Given the description of an element on the screen output the (x, y) to click on. 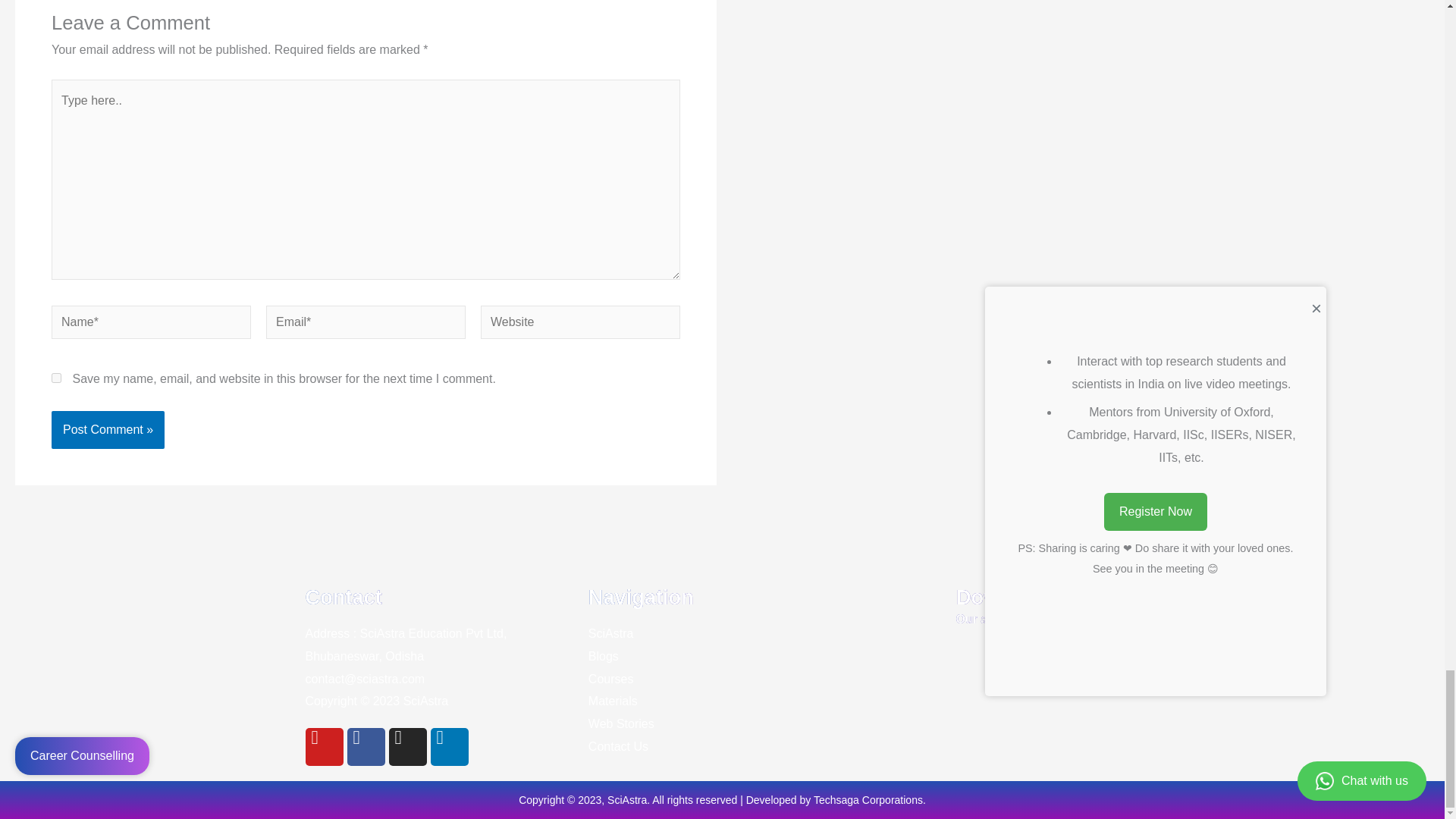
yes (55, 378)
